Given the description of an element on the screen output the (x, y) to click on. 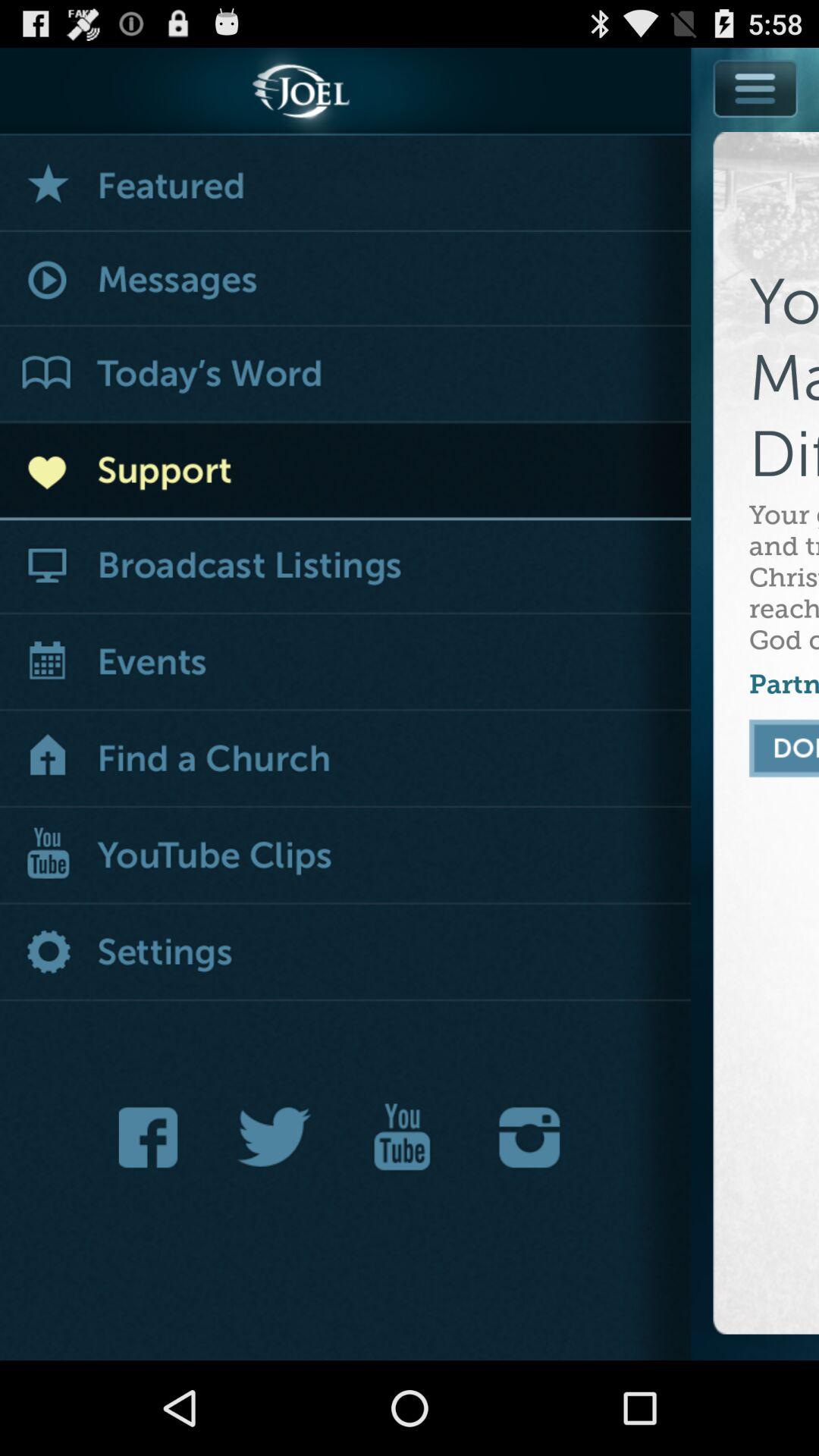
open item to the left of your gift helps icon (345, 663)
